Given the description of an element on the screen output the (x, y) to click on. 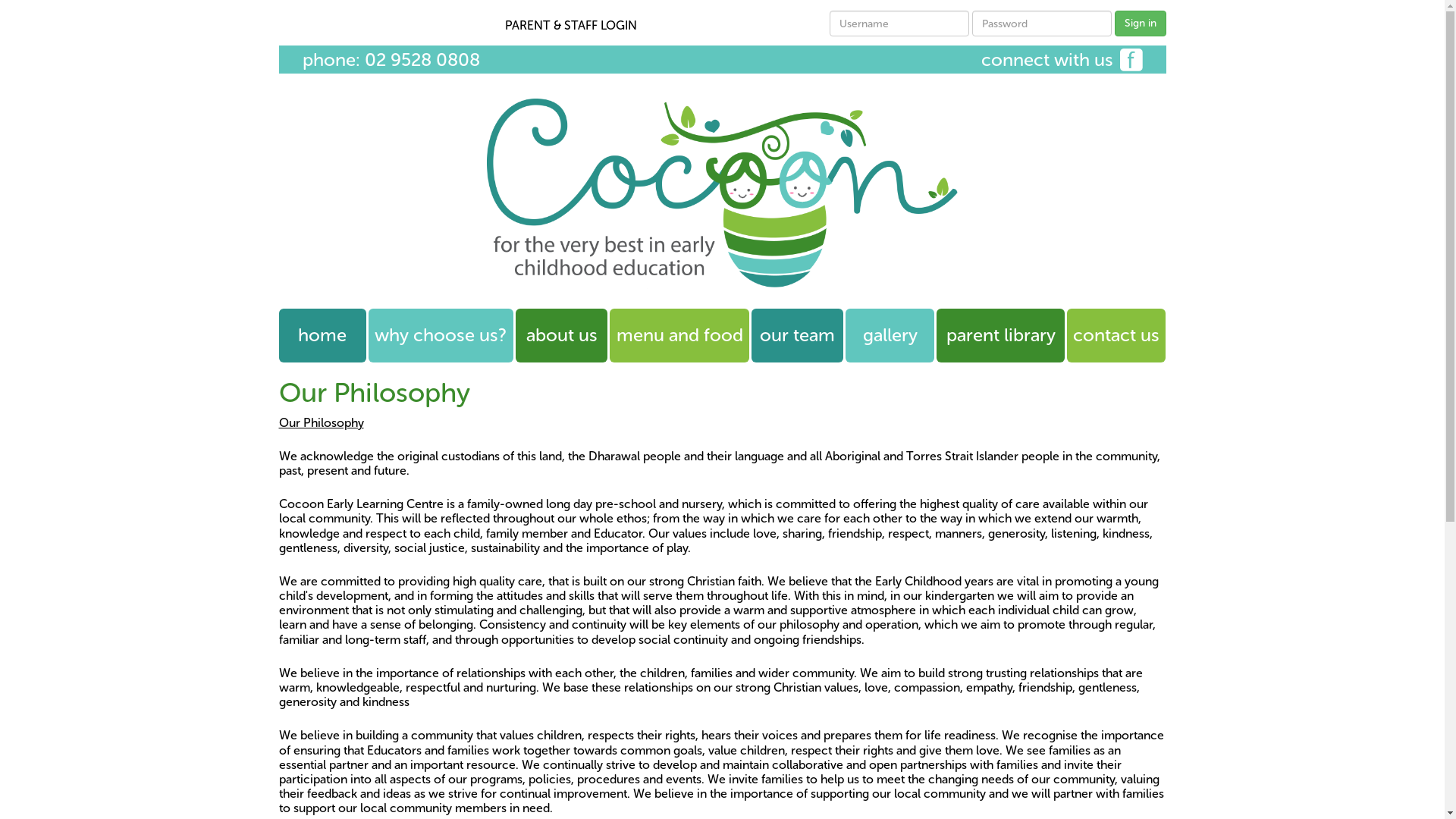
Sign in Element type: text (1140, 23)
menu and food Element type: text (679, 335)
phone: 02 9528 0808 Element type: text (390, 60)
parent library Element type: text (1000, 335)
contact us Element type: text (1115, 335)
our team Element type: text (797, 335)
about us Element type: text (561, 335)
gallery Element type: text (889, 335)
home Element type: text (322, 335)
why choose us? Element type: text (441, 335)
